Given the description of an element on the screen output the (x, y) to click on. 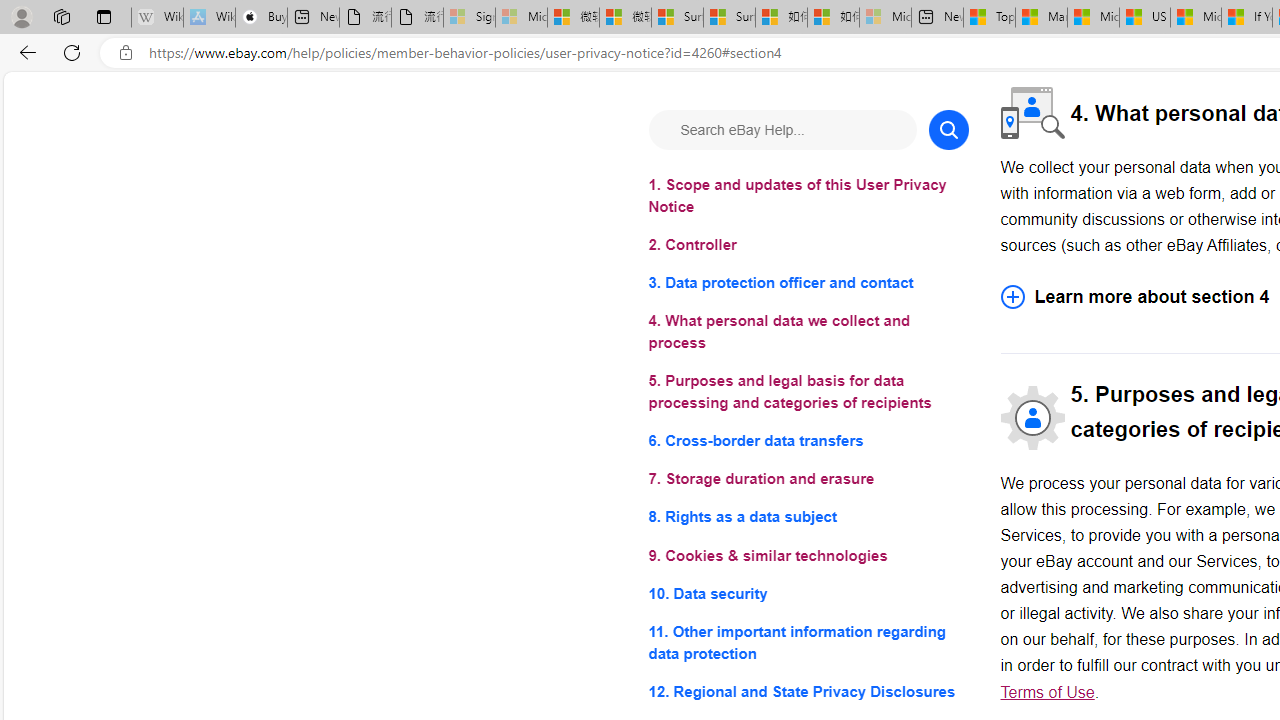
10. Data security (807, 592)
8. Rights as a data subject (807, 517)
6. Cross-border data transfers (807, 440)
12. Regional and State Privacy Disclosures (807, 690)
12. Regional and State Privacy Disclosures (807, 690)
3. Data protection officer and contact (807, 283)
2. Controller (807, 245)
